Given the description of an element on the screen output the (x, y) to click on. 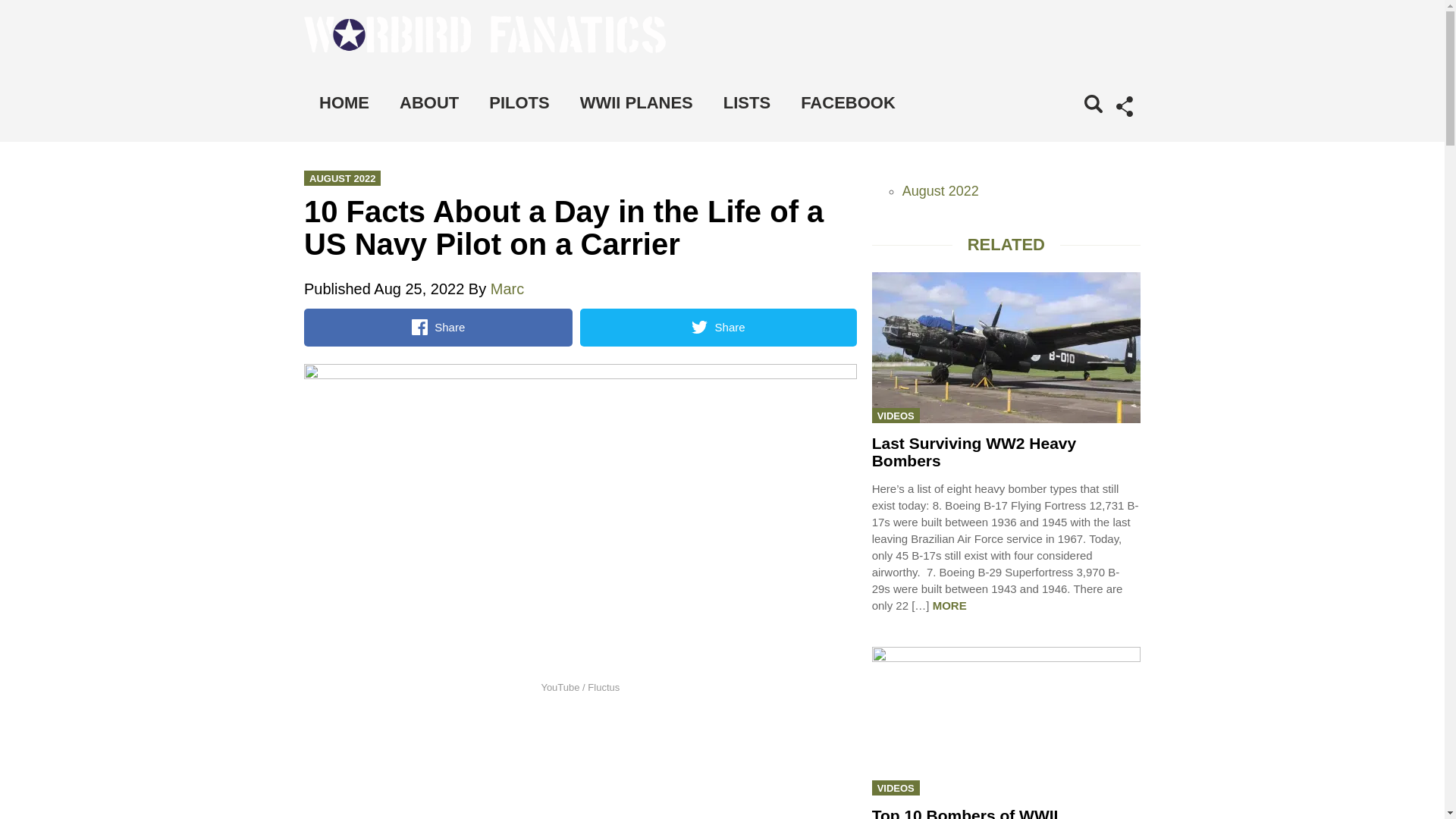
LISTS (746, 102)
PILOTS (519, 102)
FACEBOOK (848, 102)
MORE (949, 604)
VIDEOS (896, 415)
Share (438, 327)
HOME (344, 102)
Share (717, 327)
Search (1071, 124)
VIDEOS (896, 787)
